Given the description of an element on the screen output the (x, y) to click on. 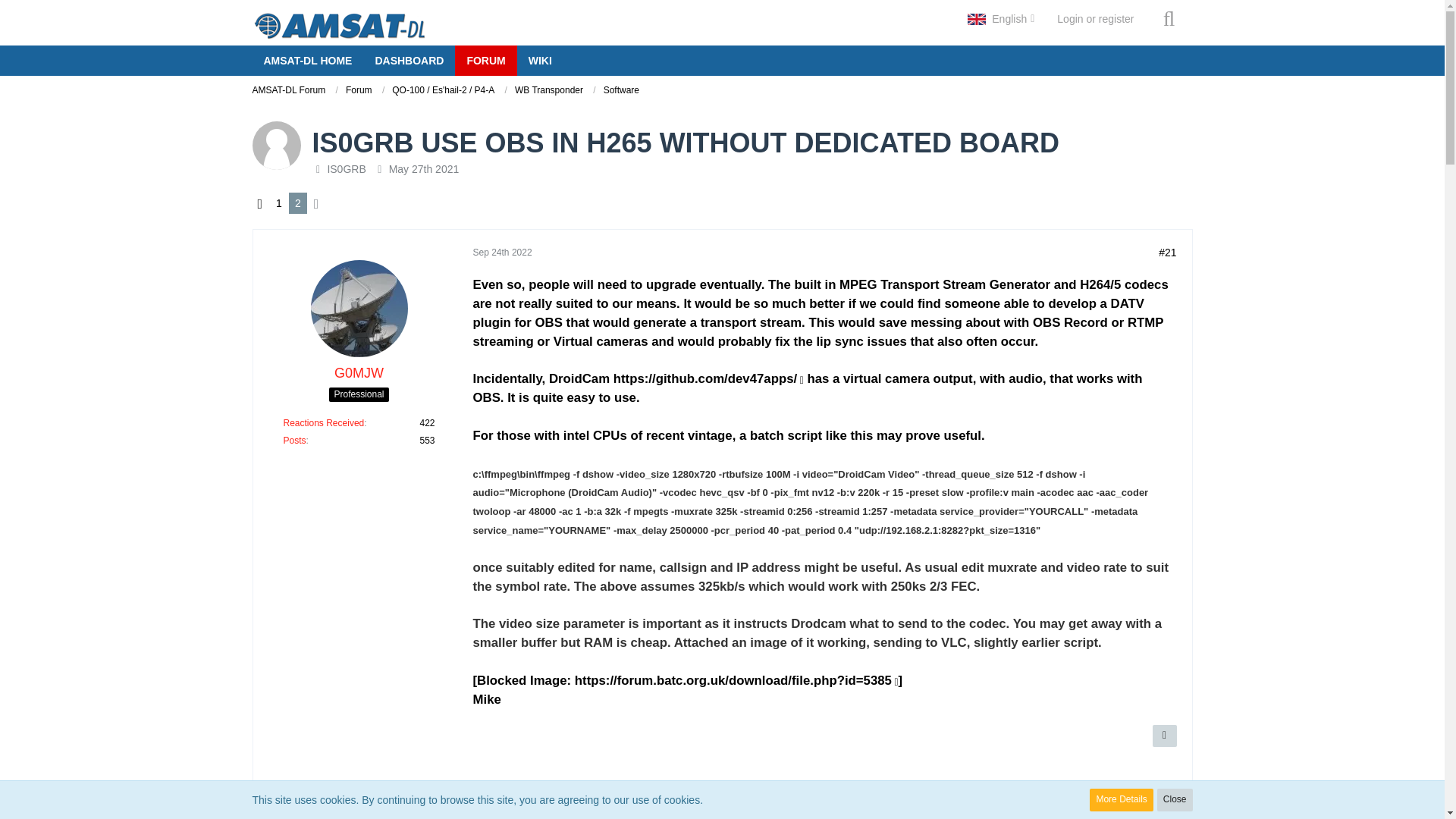
AMSAT-DL Forum (294, 90)
WB Transponder (555, 90)
FORUM (485, 60)
Posts (294, 439)
Login or register (1094, 18)
Software (621, 90)
IS0GRB (345, 168)
Forum (359, 90)
DASHBOARD (408, 60)
